Given the description of an element on the screen output the (x, y) to click on. 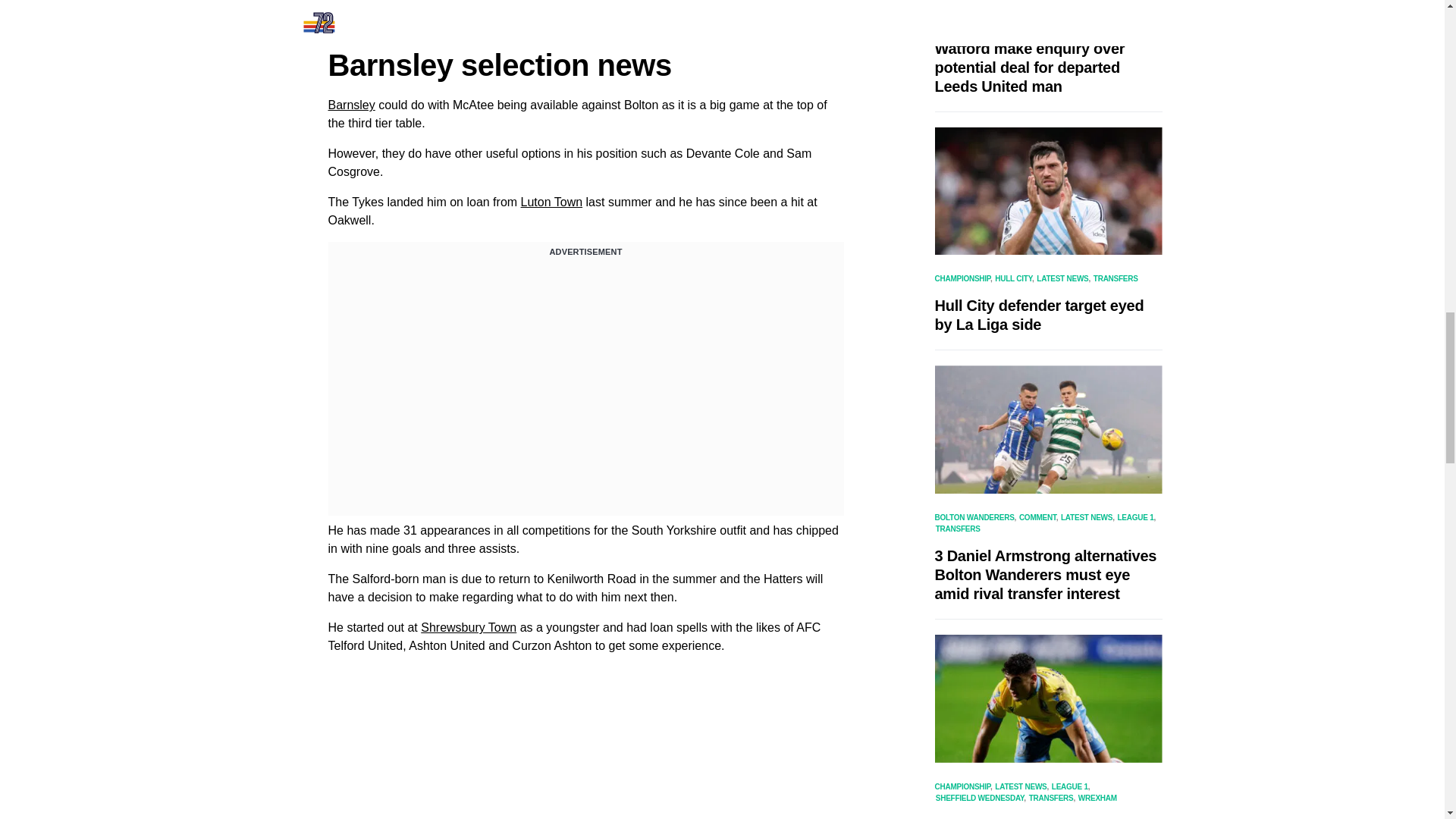
David Wagner (459, 12)
Daniel Farke (711, 12)
